Given the description of an element on the screen output the (x, y) to click on. 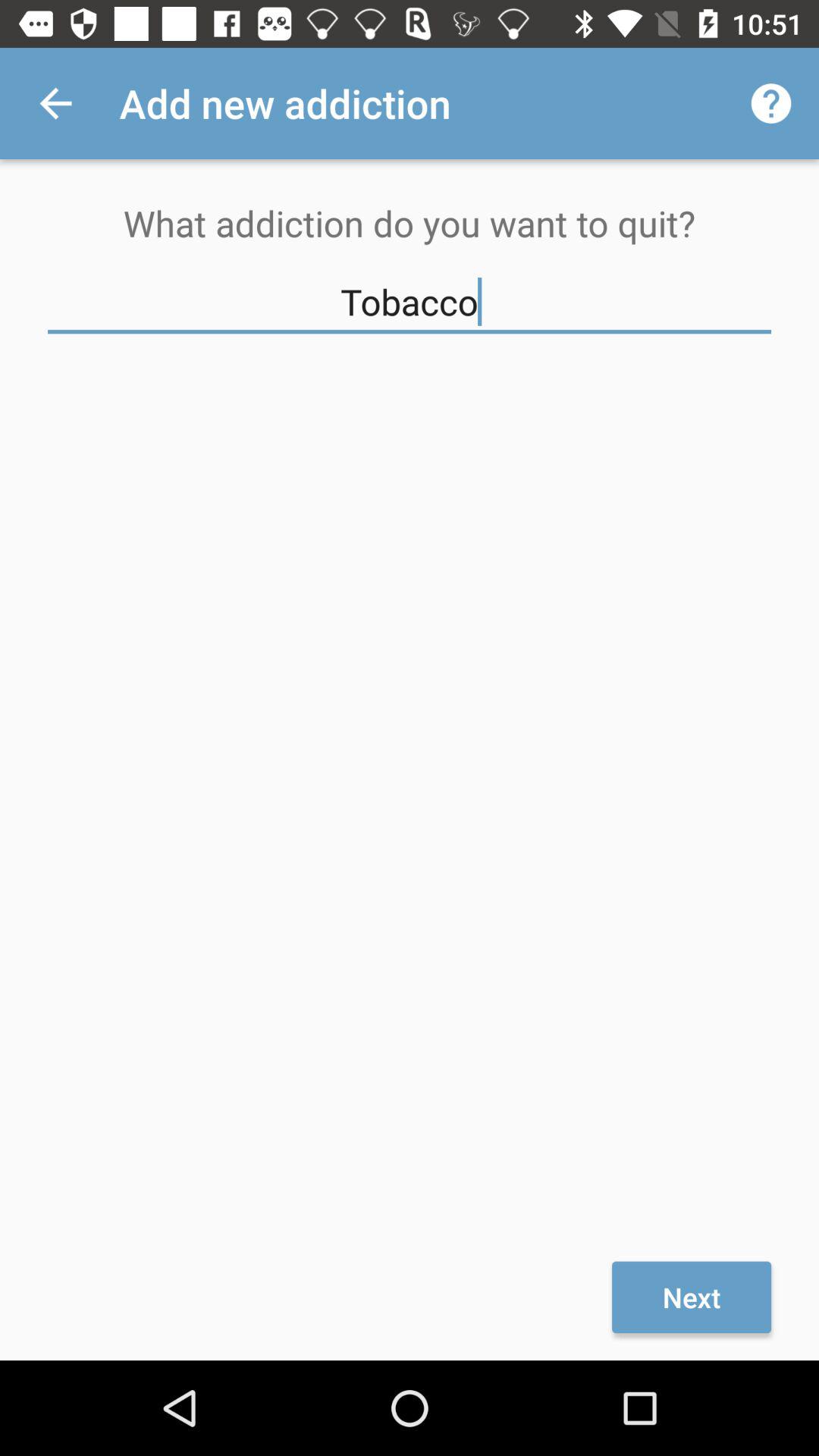
press the icon to the left of add new addiction item (55, 103)
